Given the description of an element on the screen output the (x, y) to click on. 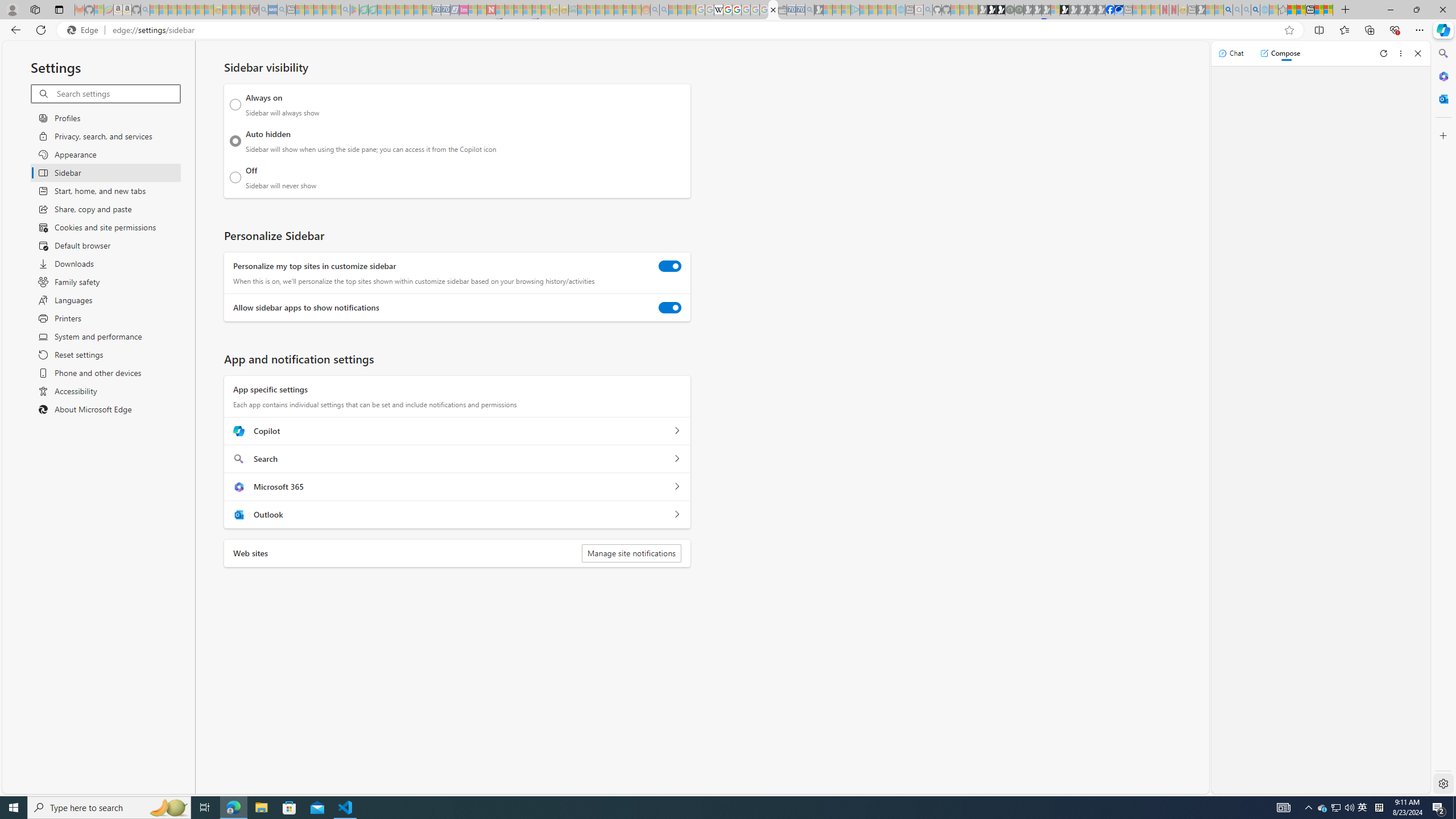
Allow sidebar apps to show notifications (669, 307)
